Given the description of an element on the screen output the (x, y) to click on. 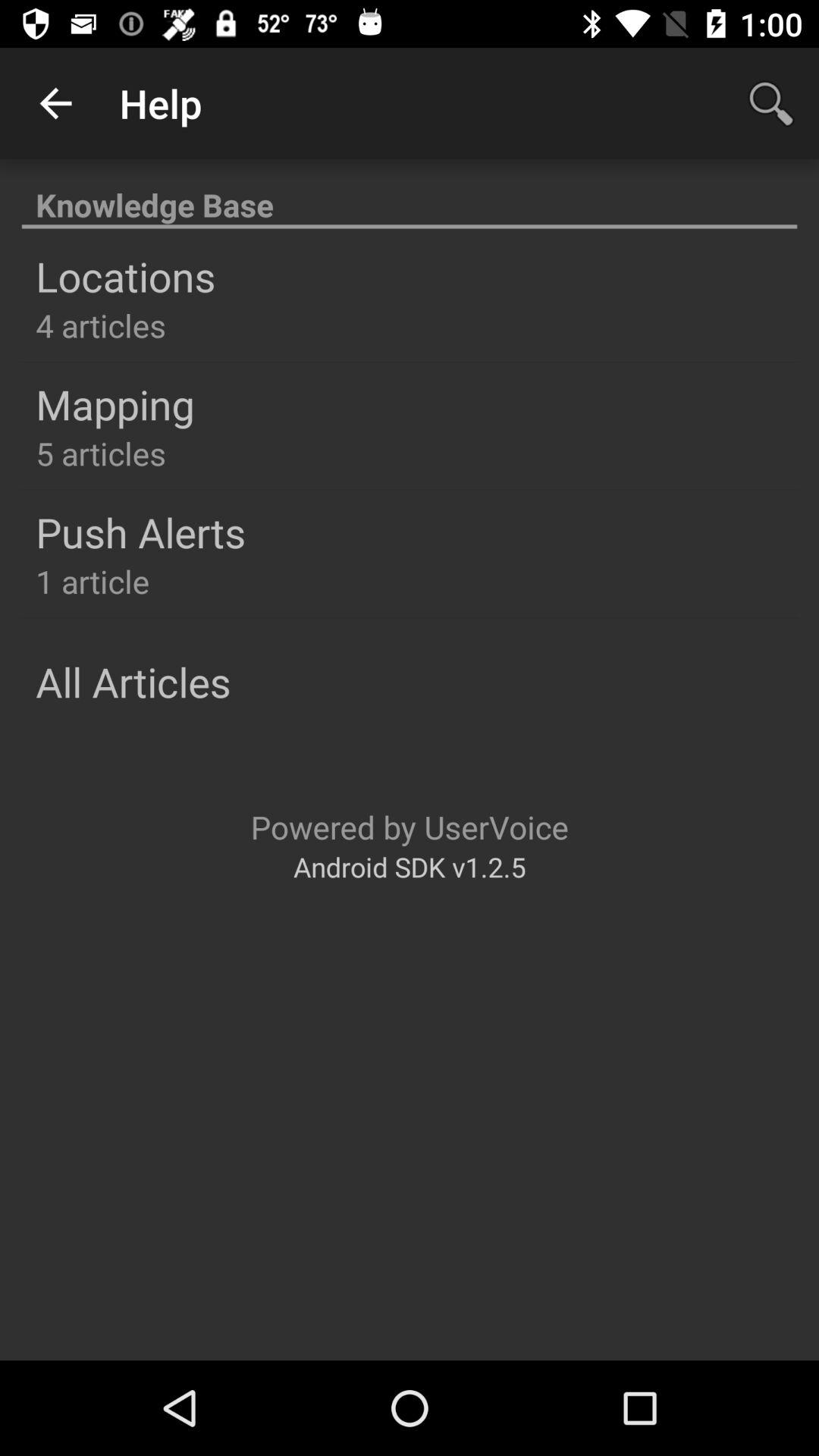
press the app next to the help icon (55, 103)
